Given the description of an element on the screen output the (x, y) to click on. 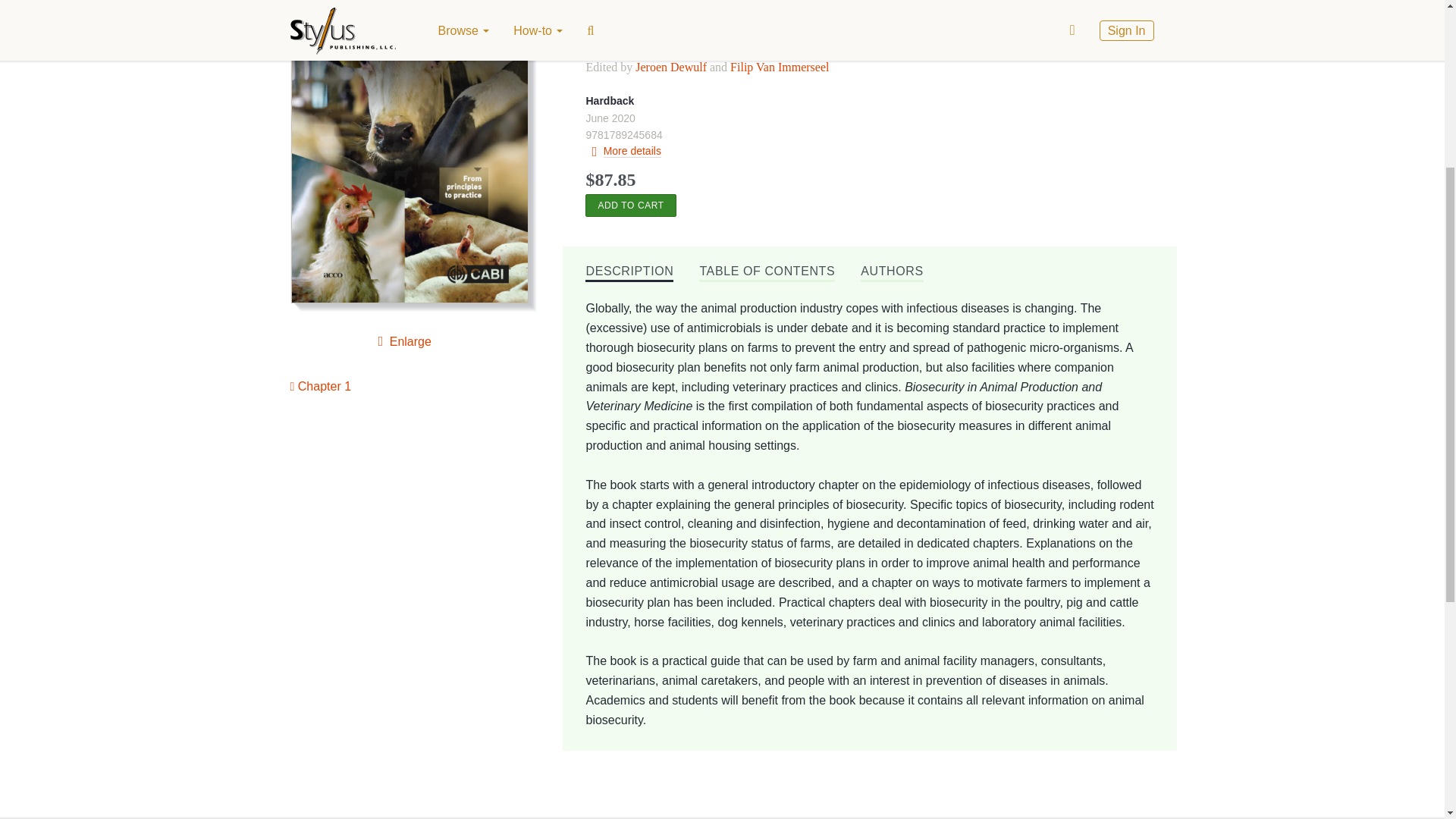
Jeroen Dewulf (670, 66)
 Chapter 1 (319, 386)
Enlarge (401, 341)
